Given the description of an element on the screen output the (x, y) to click on. 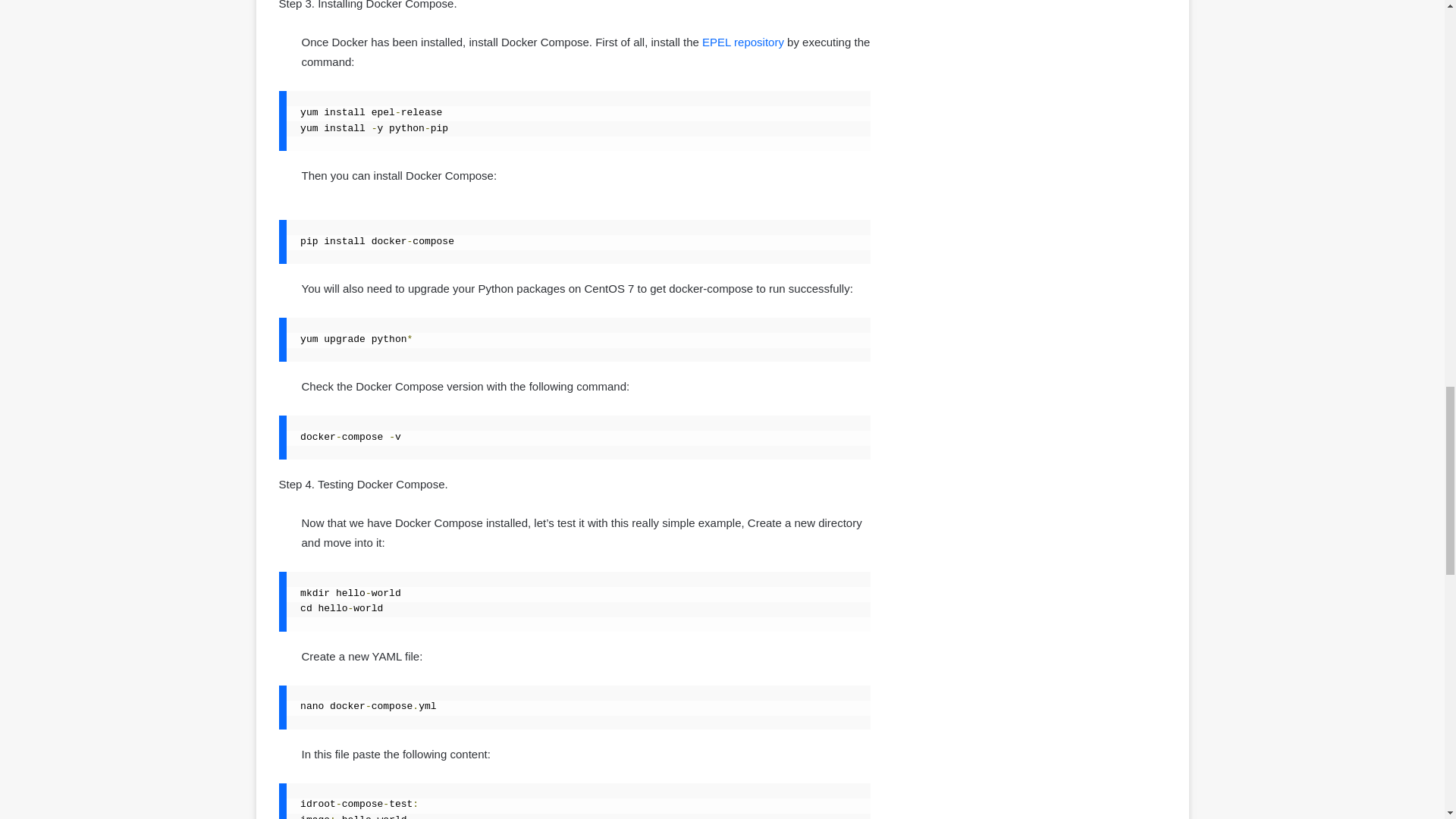
EPEL repository (742, 42)
